Given the description of an element on the screen output the (x, y) to click on. 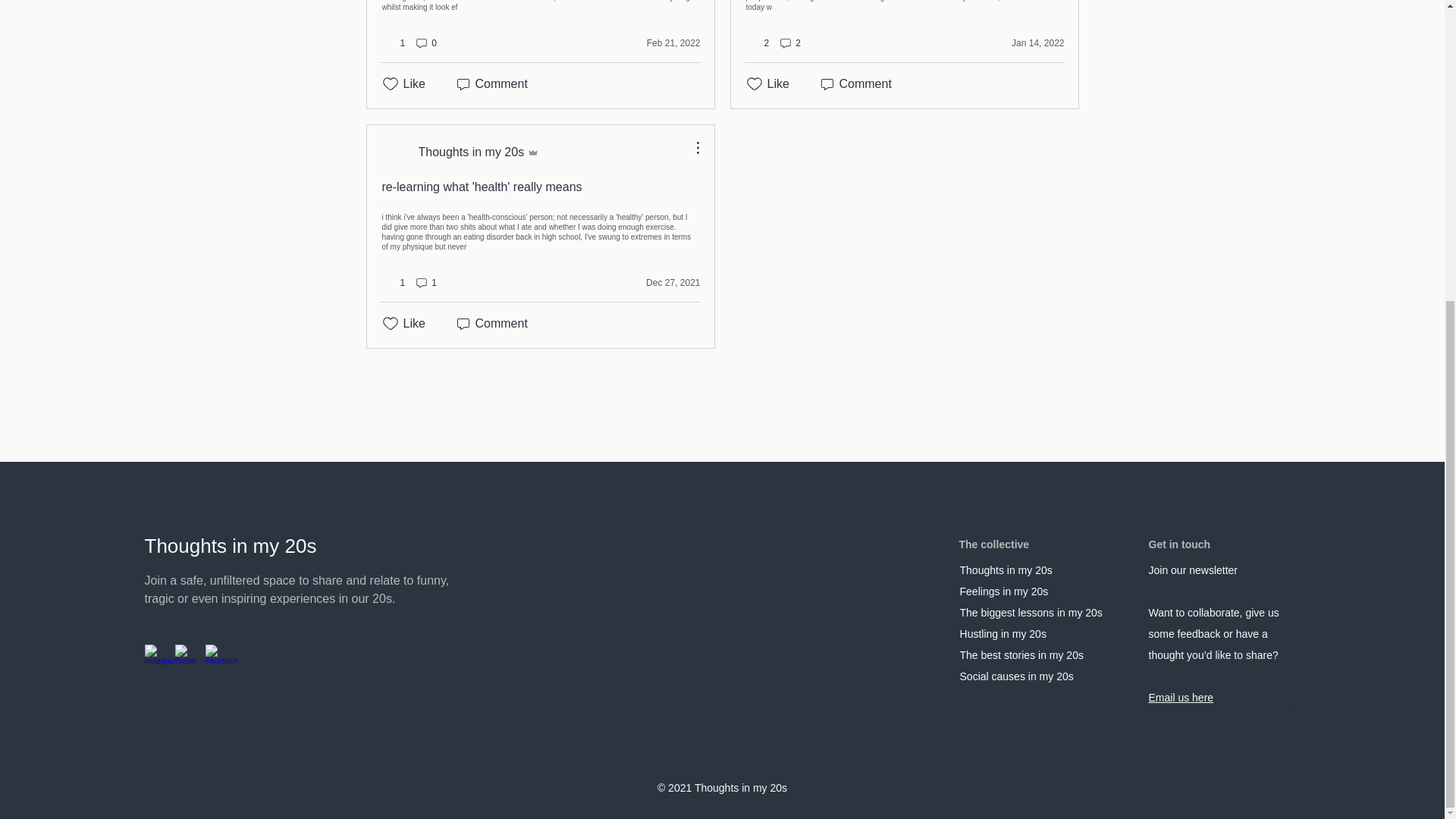
1 (395, 282)
Thoughts in my 20s (460, 152)
1 (424, 282)
0 (424, 43)
Comment (489, 323)
Comment (489, 84)
re-learning what 'health' really means (481, 186)
1 (395, 42)
Dec 27, 2021 (662, 282)
